Given the description of an element on the screen output the (x, y) to click on. 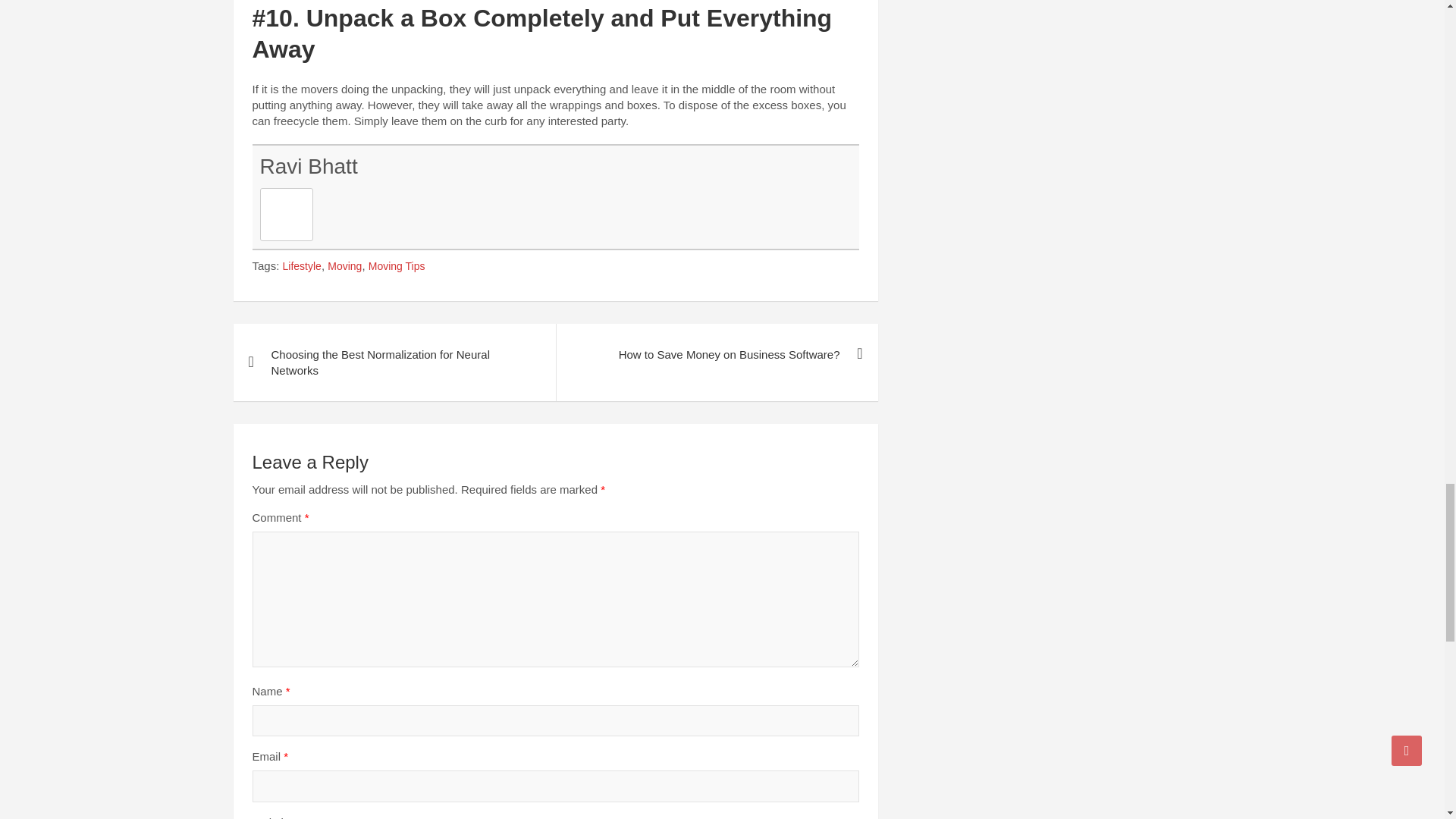
All posts by Ravi Bhatt (307, 166)
